Given the description of an element on the screen output the (x, y) to click on. 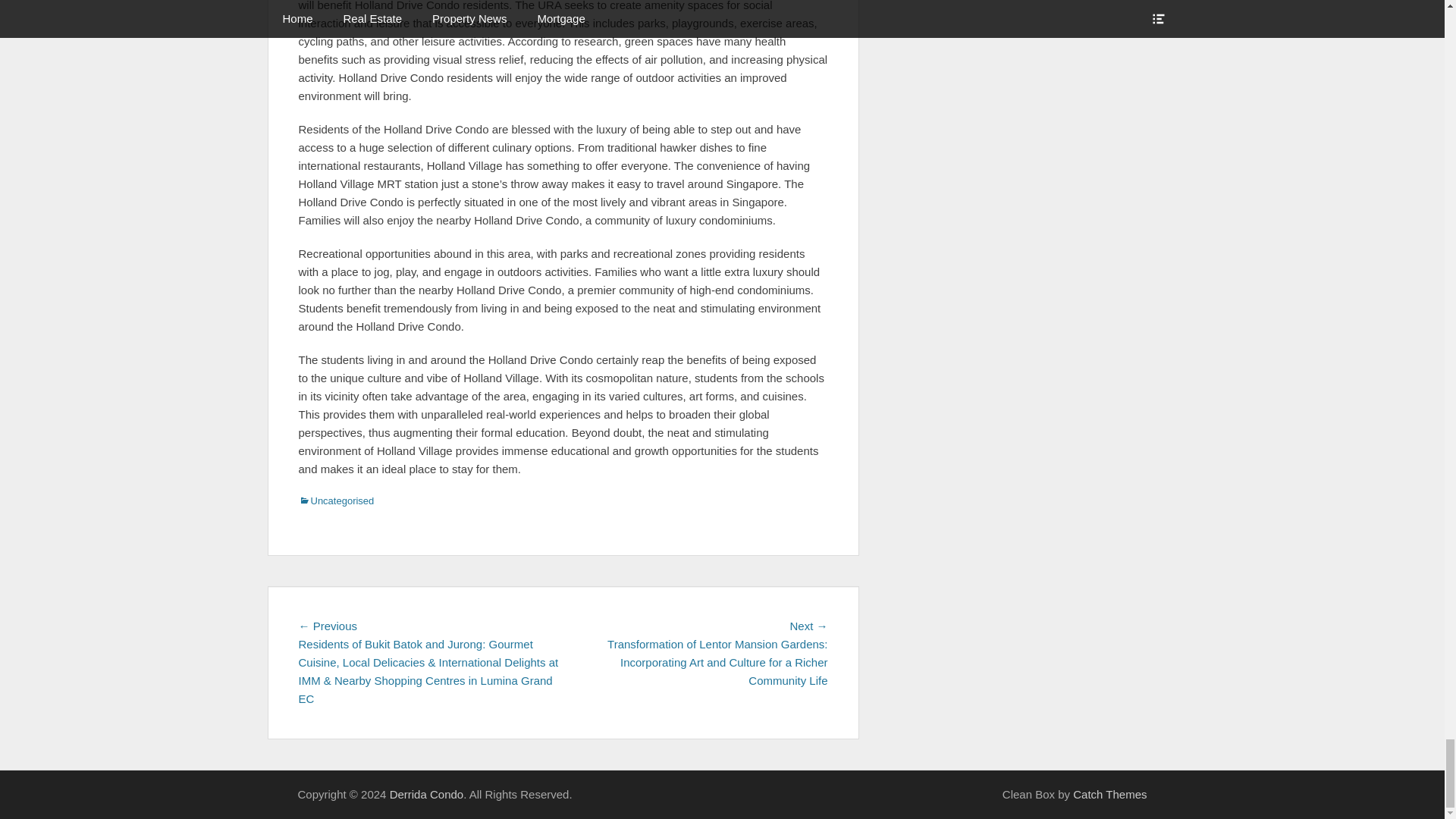
Uncategorised (336, 500)
Catch Themes (1110, 793)
Derrida Condo (427, 793)
